Given the description of an element on the screen output the (x, y) to click on. 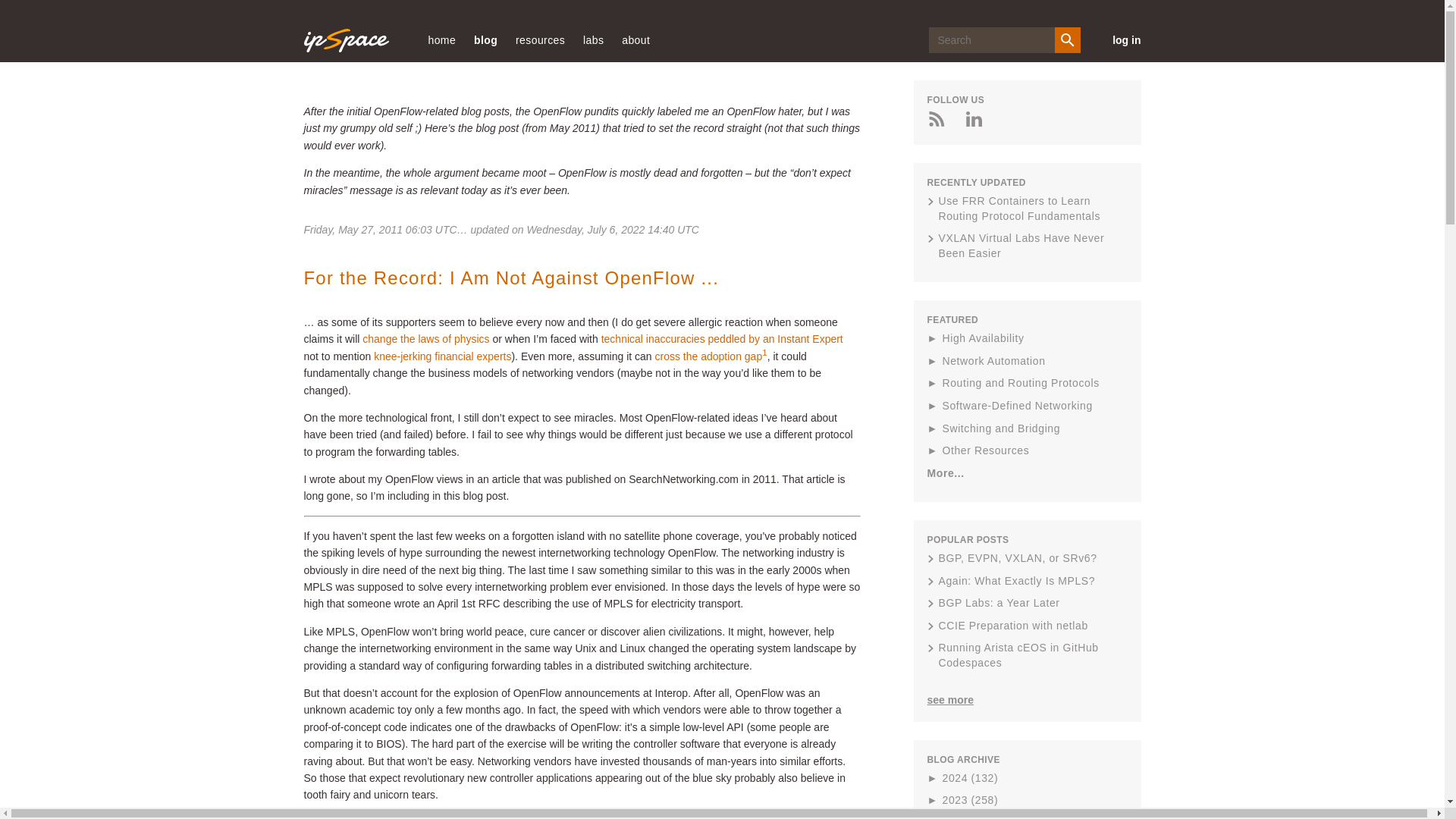
blog (485, 39)
home (441, 39)
For the Record: I Am Not Against OpenFlow ... (510, 277)
log in (1118, 39)
change the laws of physics (425, 338)
technical inaccuracies peddled by an Instant Expert (722, 338)
about (635, 39)
knee-jerking financial experts (442, 356)
resources (539, 39)
cross the adoption gap (708, 356)
labs (593, 39)
